Given the description of an element on the screen output the (x, y) to click on. 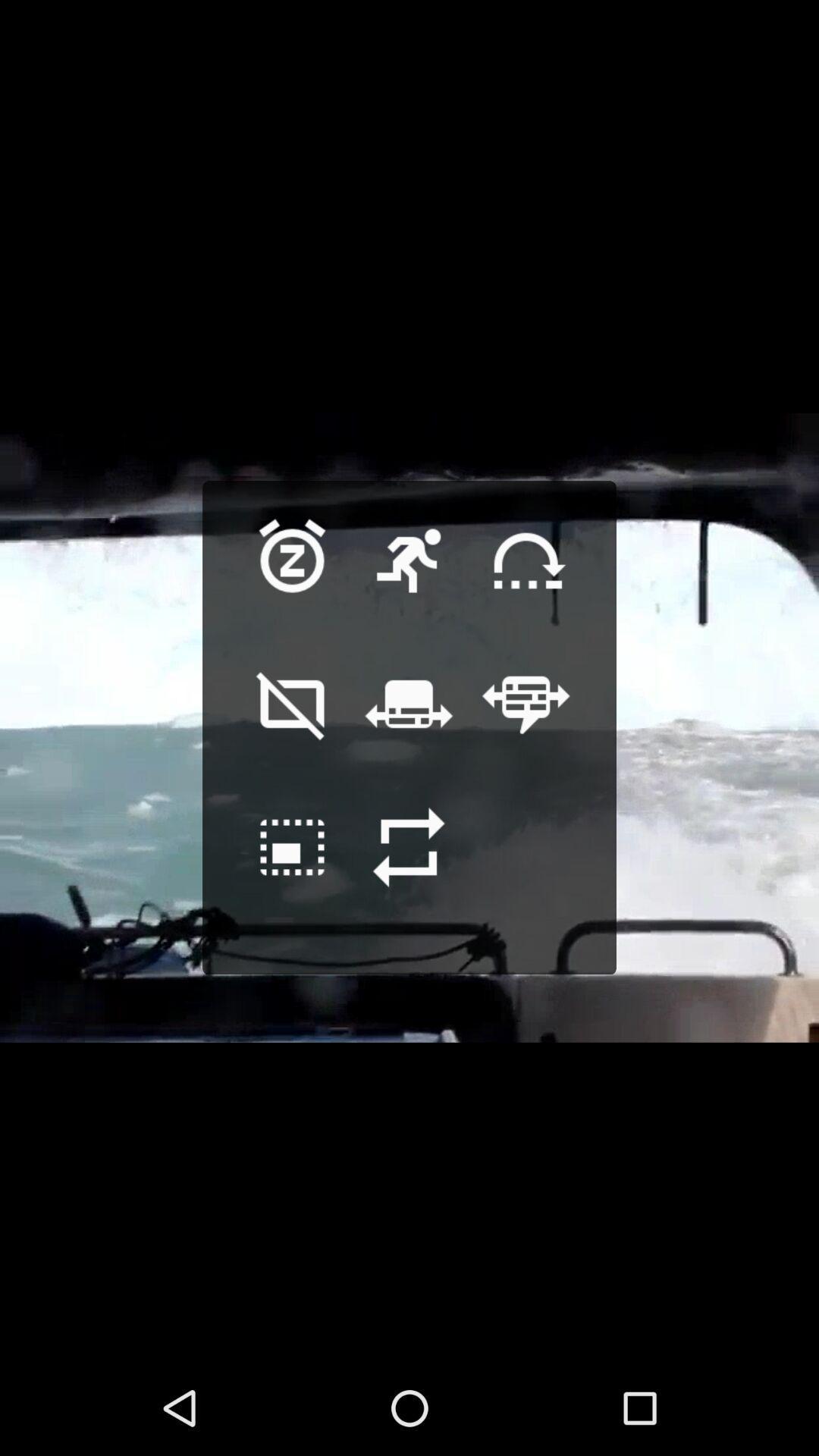
edit the screen size (292, 870)
